Given the description of an element on the screen output the (x, y) to click on. 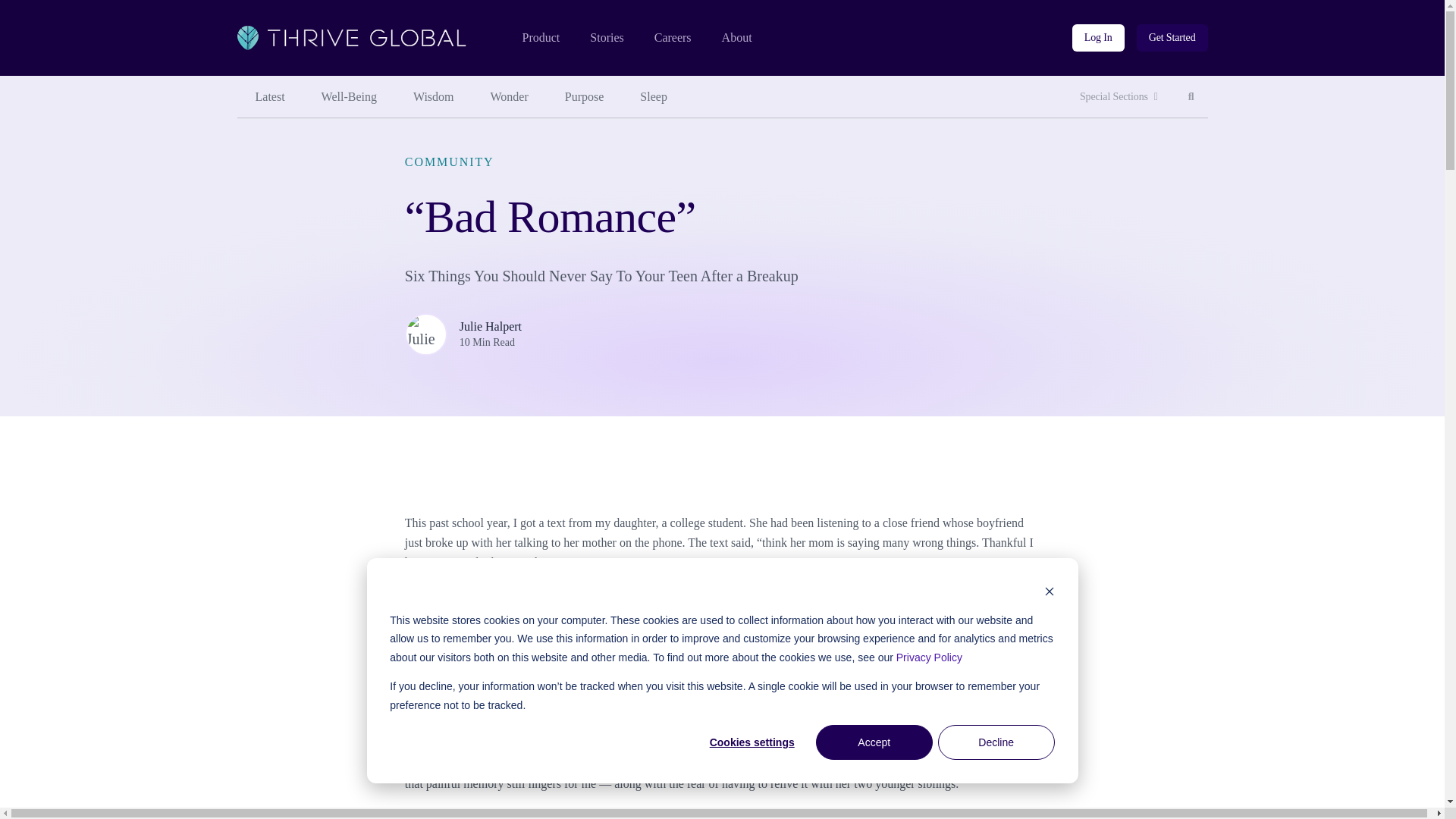
Wisdom (432, 96)
About (737, 37)
Well-Being (348, 96)
Stories (606, 37)
Latest (268, 96)
Purpose (585, 96)
Get Started (1172, 37)
Wonder (509, 96)
Special Sections (1118, 97)
Sleep (653, 96)
Careers (1191, 97)
Product (672, 37)
Log In (540, 37)
